Given the description of an element on the screen output the (x, y) to click on. 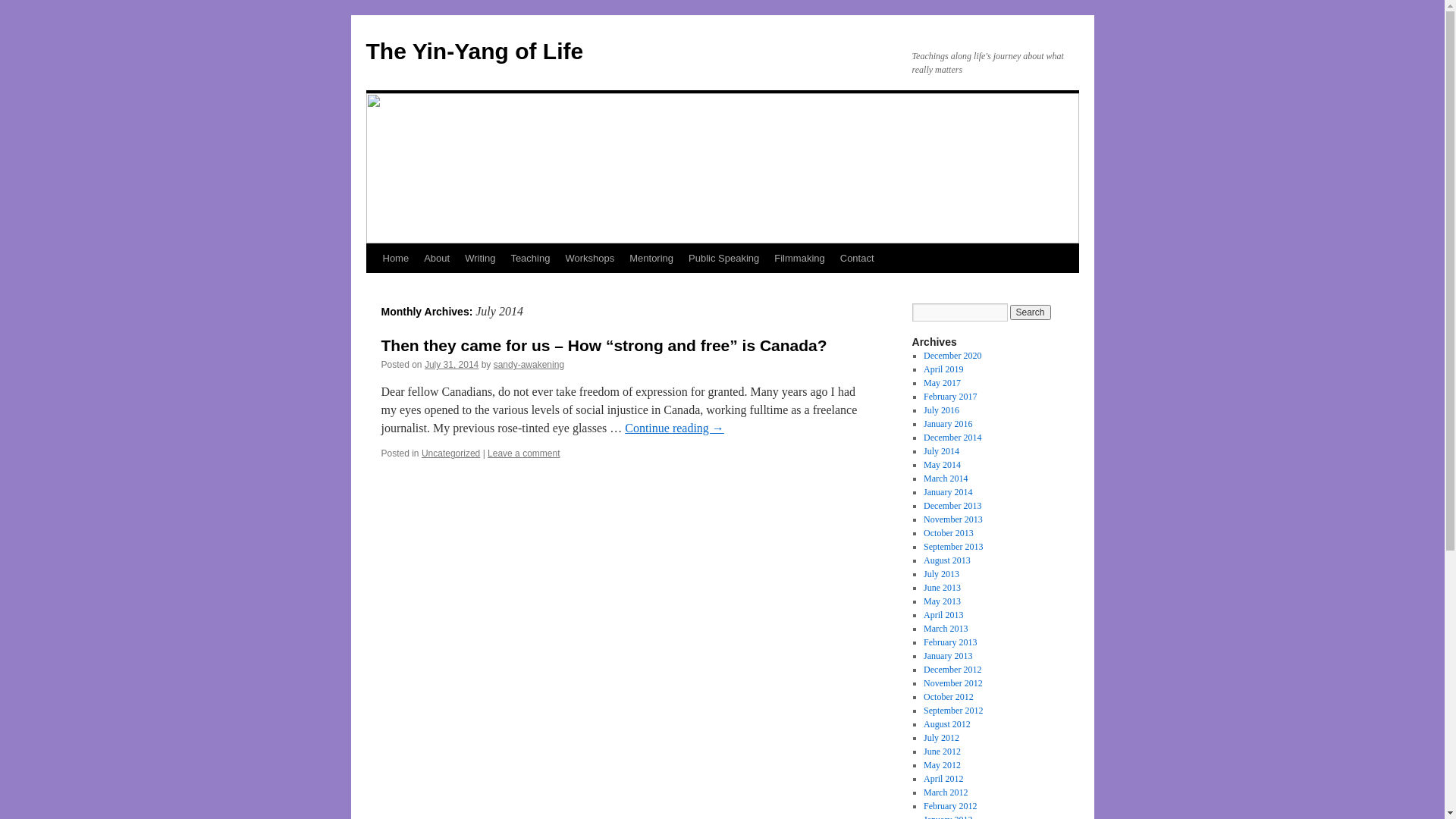
October 2012 Element type: text (948, 696)
April 2013 Element type: text (943, 614)
Search Element type: text (1030, 312)
January 2016 Element type: text (947, 423)
Public Speaking Element type: text (723, 258)
July 2013 Element type: text (941, 573)
February 2013 Element type: text (949, 642)
July 2012 Element type: text (941, 737)
April 2012 Element type: text (943, 778)
May 2014 Element type: text (941, 464)
March 2013 Element type: text (945, 628)
March 2012 Element type: text (945, 792)
Skip to content Element type: text (372, 286)
December 2012 Element type: text (952, 669)
September 2013 Element type: text (952, 546)
August 2013 Element type: text (946, 560)
January 2013 Element type: text (947, 655)
November 2013 Element type: text (952, 519)
April 2019 Element type: text (943, 369)
August 2012 Element type: text (946, 723)
February 2012 Element type: text (949, 805)
Uncategorized Element type: text (450, 453)
About Element type: text (436, 258)
June 2013 Element type: text (941, 587)
March 2014 Element type: text (945, 478)
June 2012 Element type: text (941, 751)
May 2012 Element type: text (941, 764)
September 2012 Element type: text (952, 710)
December 2020 Element type: text (952, 355)
July 2016 Element type: text (941, 409)
Mentoring Element type: text (650, 258)
July 2014 Element type: text (941, 450)
December 2014 Element type: text (952, 437)
December 2013 Element type: text (952, 505)
Home Element type: text (395, 258)
October 2013 Element type: text (948, 532)
July 31, 2014 Element type: text (451, 364)
May 2013 Element type: text (941, 601)
May 2017 Element type: text (941, 382)
Filmmaking Element type: text (798, 258)
February 2017 Element type: text (949, 396)
January 2014 Element type: text (947, 491)
Contact Element type: text (856, 258)
The Yin-Yang of Life Element type: text (474, 50)
Writing Element type: text (479, 258)
Workshops Element type: text (589, 258)
Teaching Element type: text (529, 258)
sandy-awakening Element type: text (528, 364)
November 2012 Element type: text (952, 682)
Leave a comment Element type: text (523, 453)
